Given the description of an element on the screen output the (x, y) to click on. 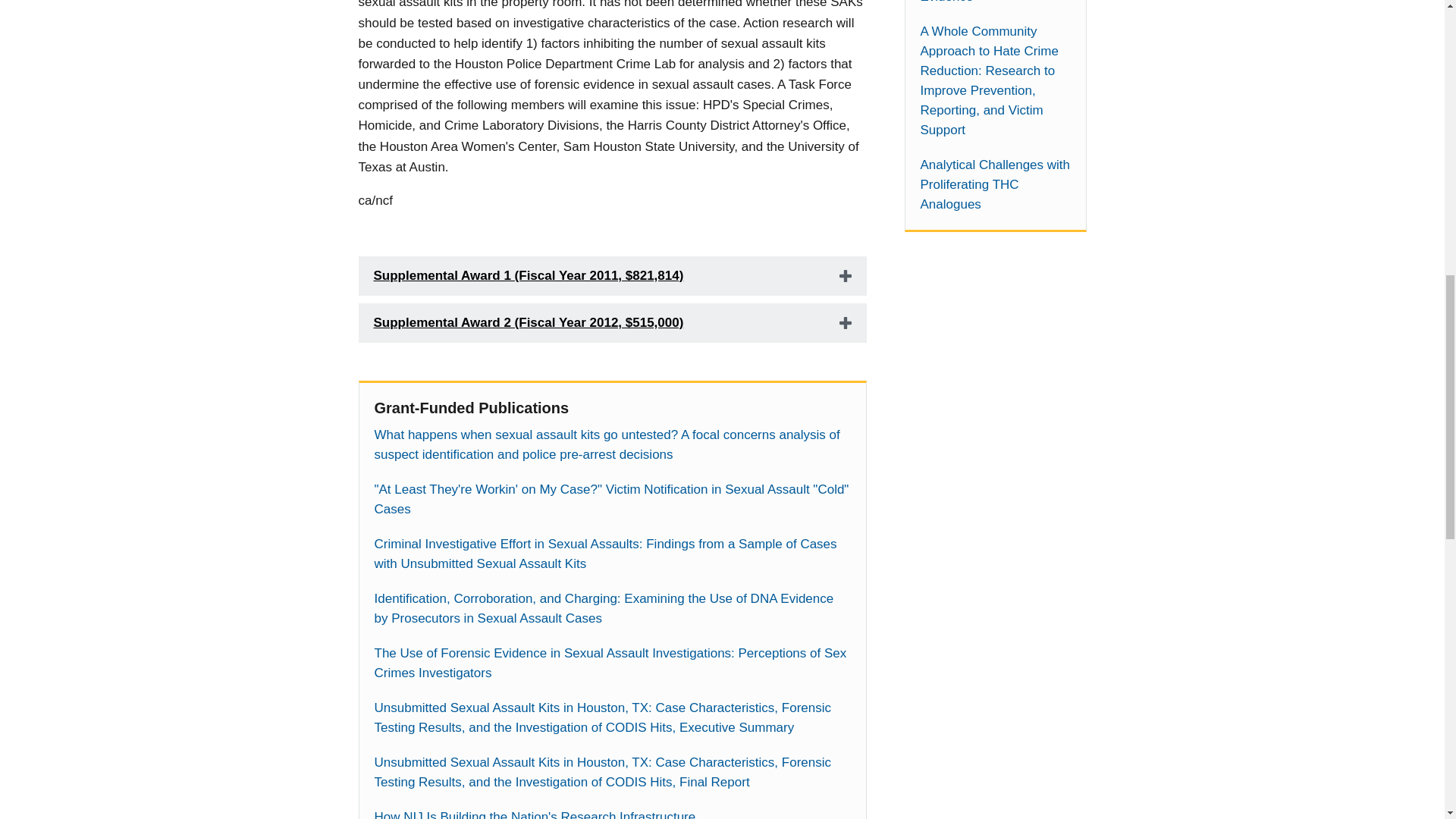
How NIJ Is Building the Nation's Research Infrastructure (612, 813)
How NIJ Is Building the Nation's Research Infrastructure (612, 813)
